Given the description of an element on the screen output the (x, y) to click on. 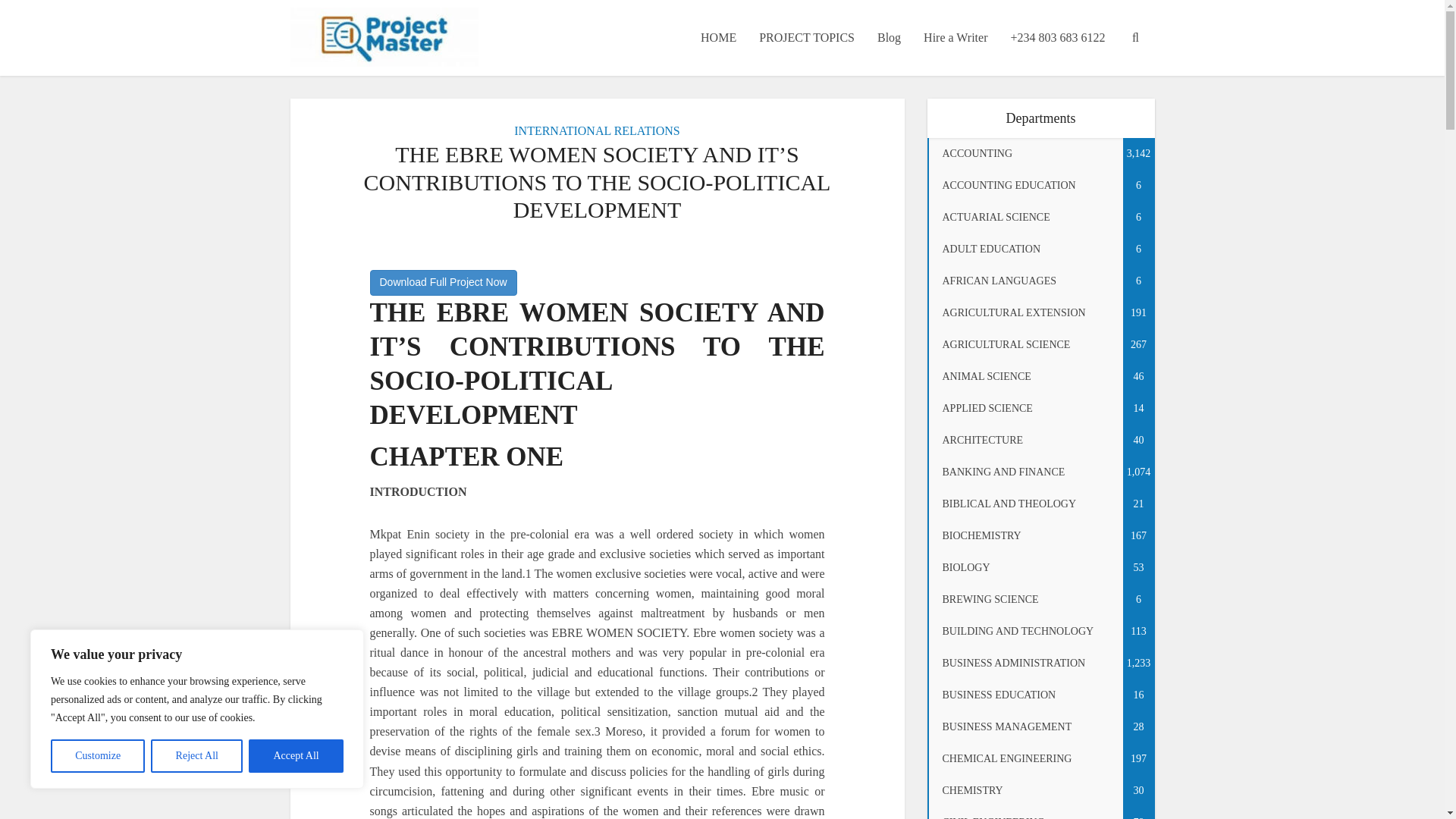
Accept All (295, 756)
Reject All (197, 756)
Download Full Project Now (73, 12)
Download Full Project Now (442, 282)
PROJECT TOPICS (807, 38)
Hire a Writer (955, 38)
Customize (97, 756)
INTERNATIONAL RELATIONS (596, 130)
